Given the description of an element on the screen output the (x, y) to click on. 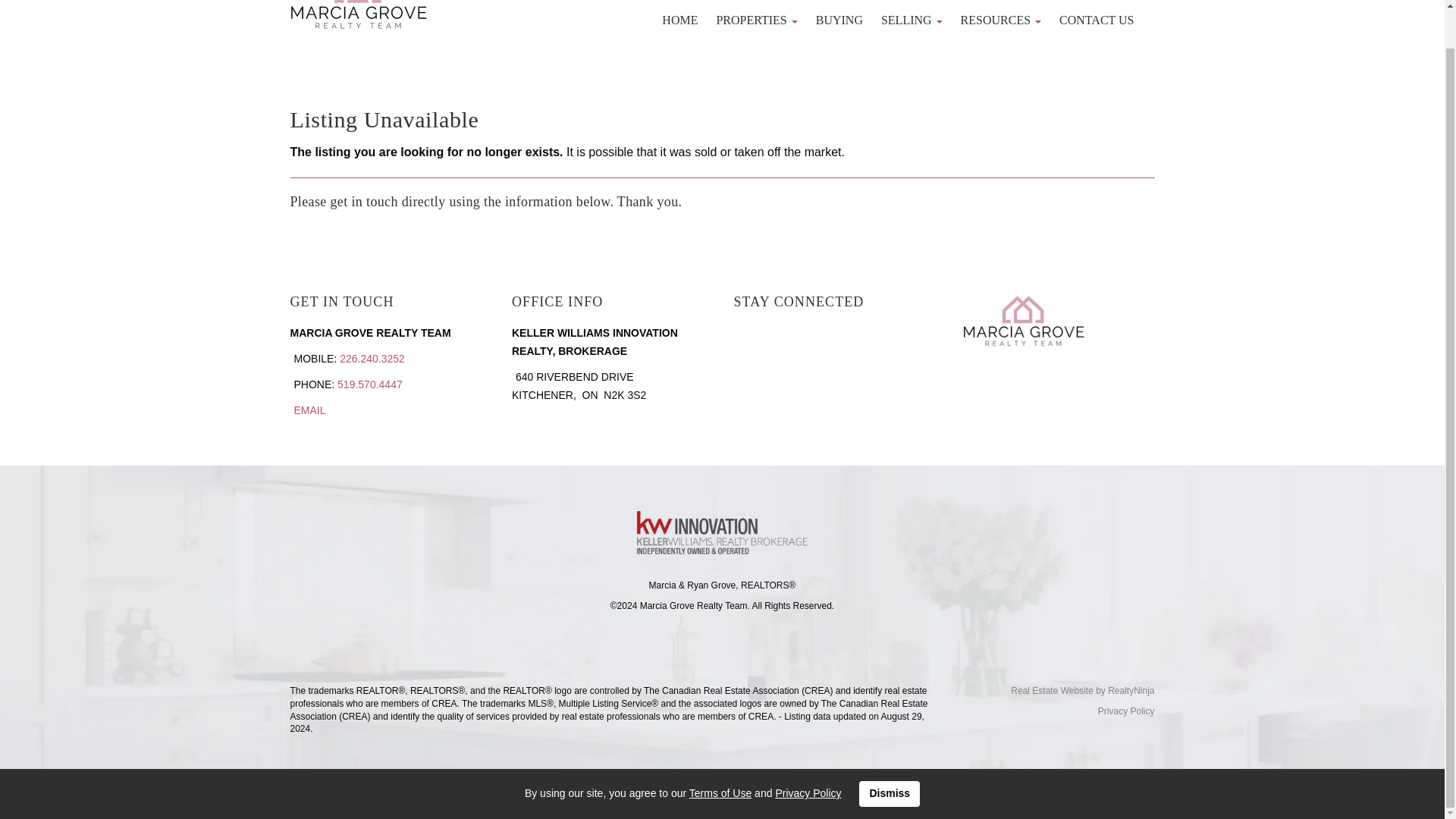
Privacy Policy (807, 752)
CONTACT US (1095, 20)
BUYING (839, 20)
HOME (679, 20)
Marcia Grove Realty Team (357, 16)
RESOURCES (1000, 20)
SELLING (912, 20)
Real Estate Website by RealtyNinja (1054, 690)
Dismiss (889, 753)
EMAIL (310, 410)
